Given the description of an element on the screen output the (x, y) to click on. 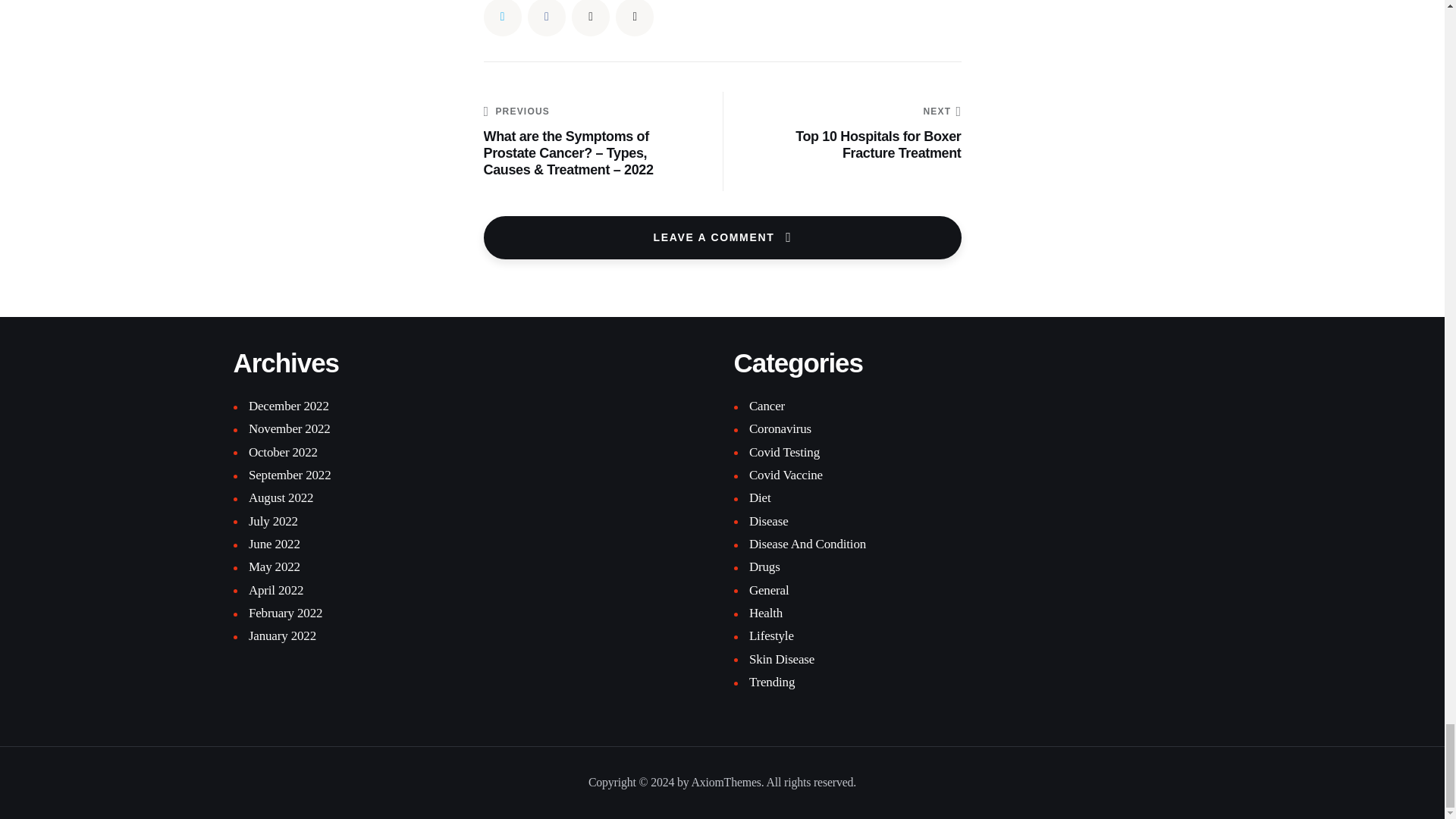
Copy URL to clipboard (634, 18)
November 2022 (289, 428)
LEAVE A COMMENT (852, 133)
October 2022 (721, 237)
December 2022 (282, 452)
